Given the description of an element on the screen output the (x, y) to click on. 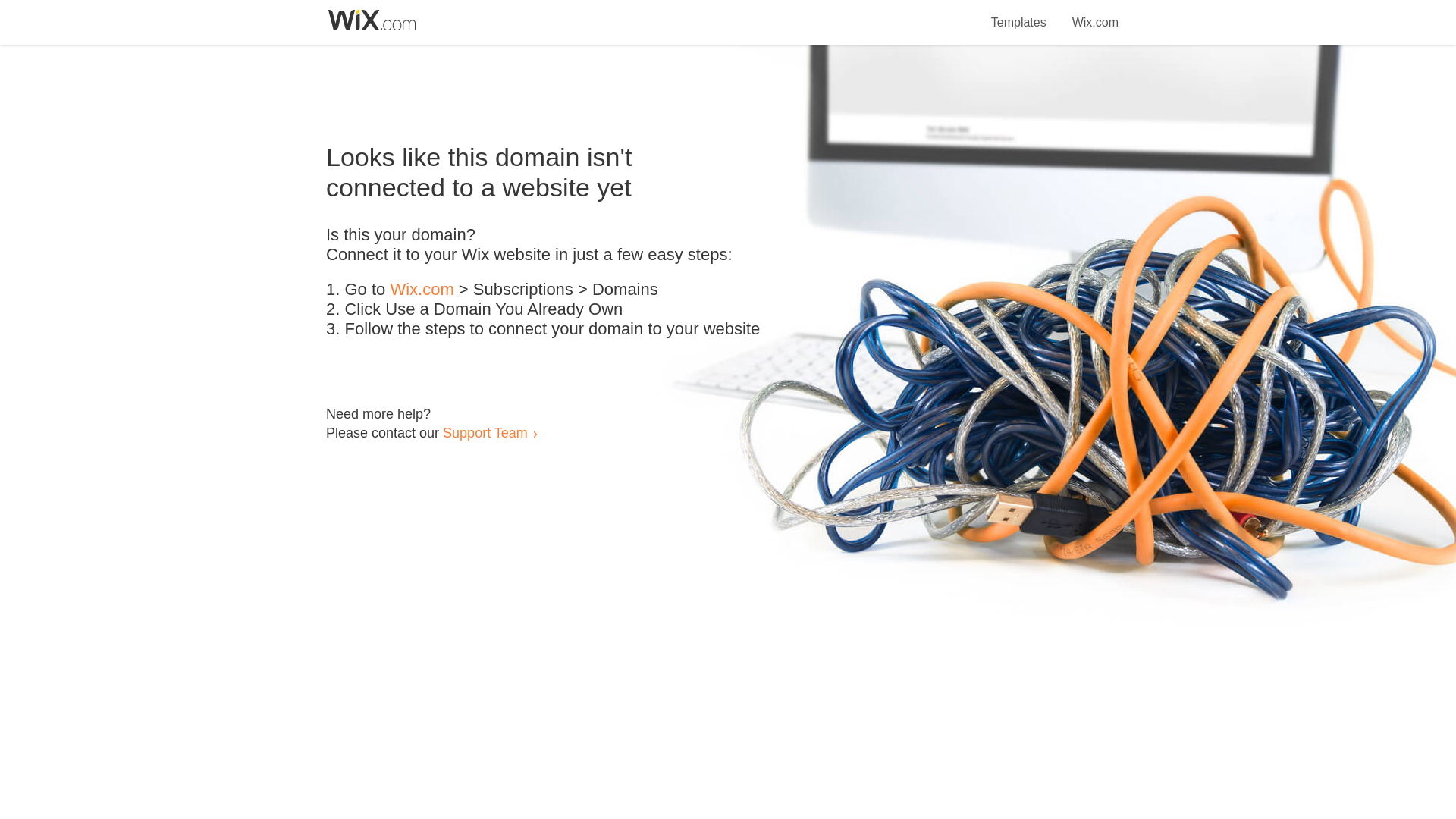
Templates (1018, 14)
Wix.com (421, 289)
Support Team (484, 432)
Wix.com (1095, 14)
